Given the description of an element on the screen output the (x, y) to click on. 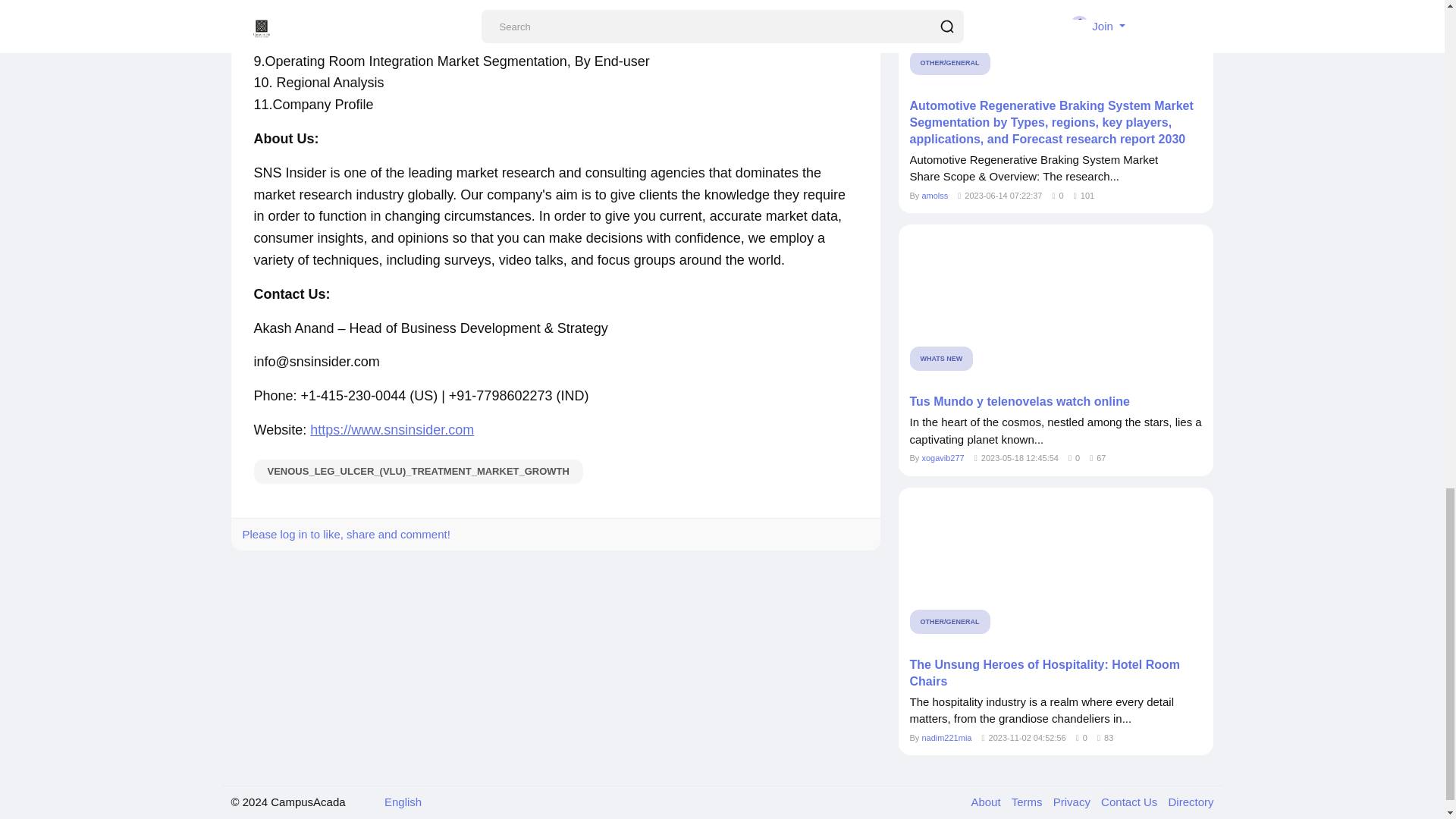
Please log in to like, share and comment! (346, 533)
